Given the description of an element on the screen output the (x, y) to click on. 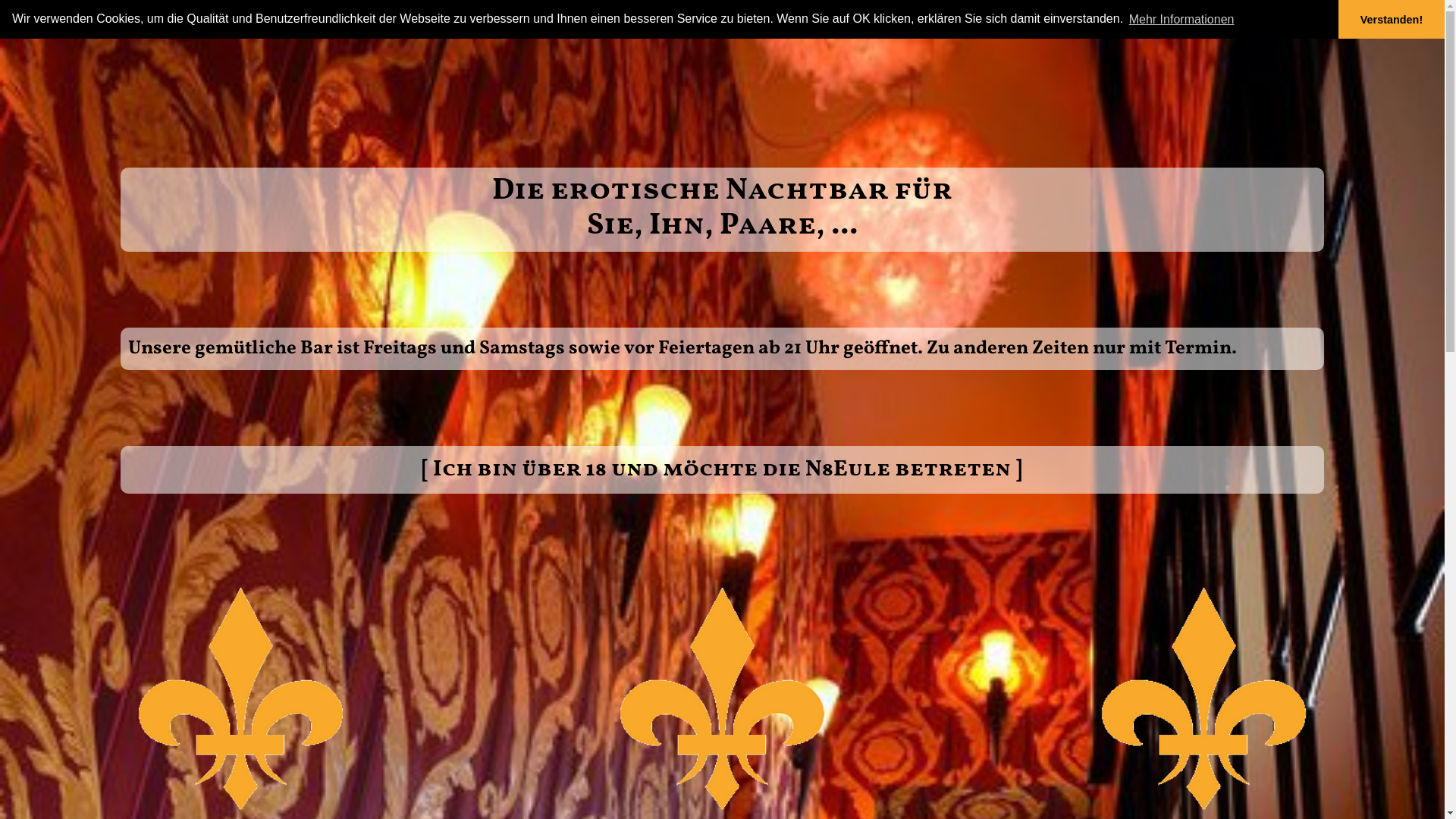
Mehr Informationen Element type: text (1181, 18)
Verstanden! Element type: text (1391, 19)
